Given the description of an element on the screen output the (x, y) to click on. 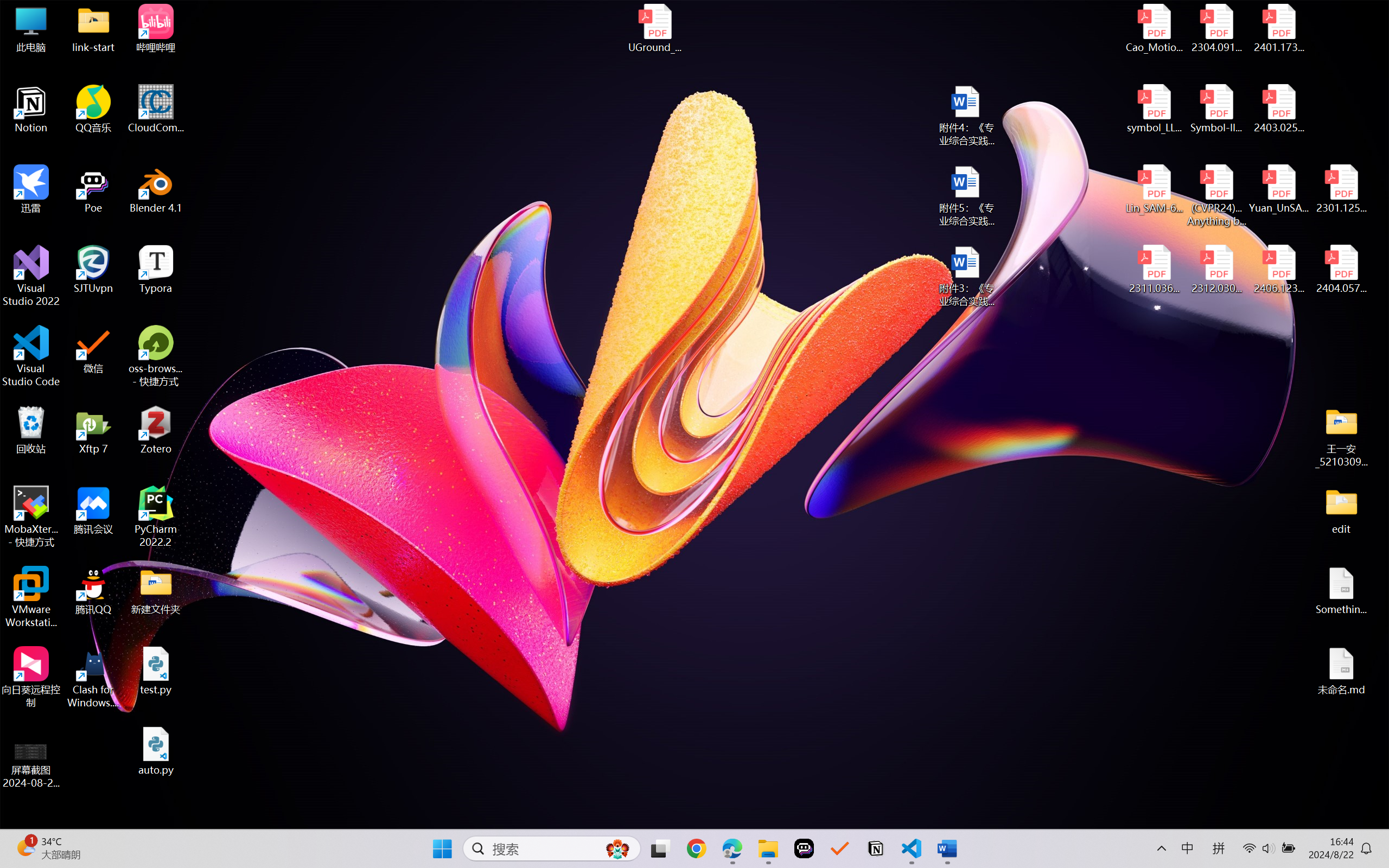
2312.03032v2.pdf (1216, 269)
UGround_paper.pdf (654, 28)
Symbol-llm-v2.pdf (1216, 109)
Something.md (1340, 591)
Blender 4.1 (156, 189)
2404.05719v1.pdf (1340, 269)
VMware Workstation Pro (31, 597)
symbol_LLM.pdf (1154, 109)
